Given the description of an element on the screen output the (x, y) to click on. 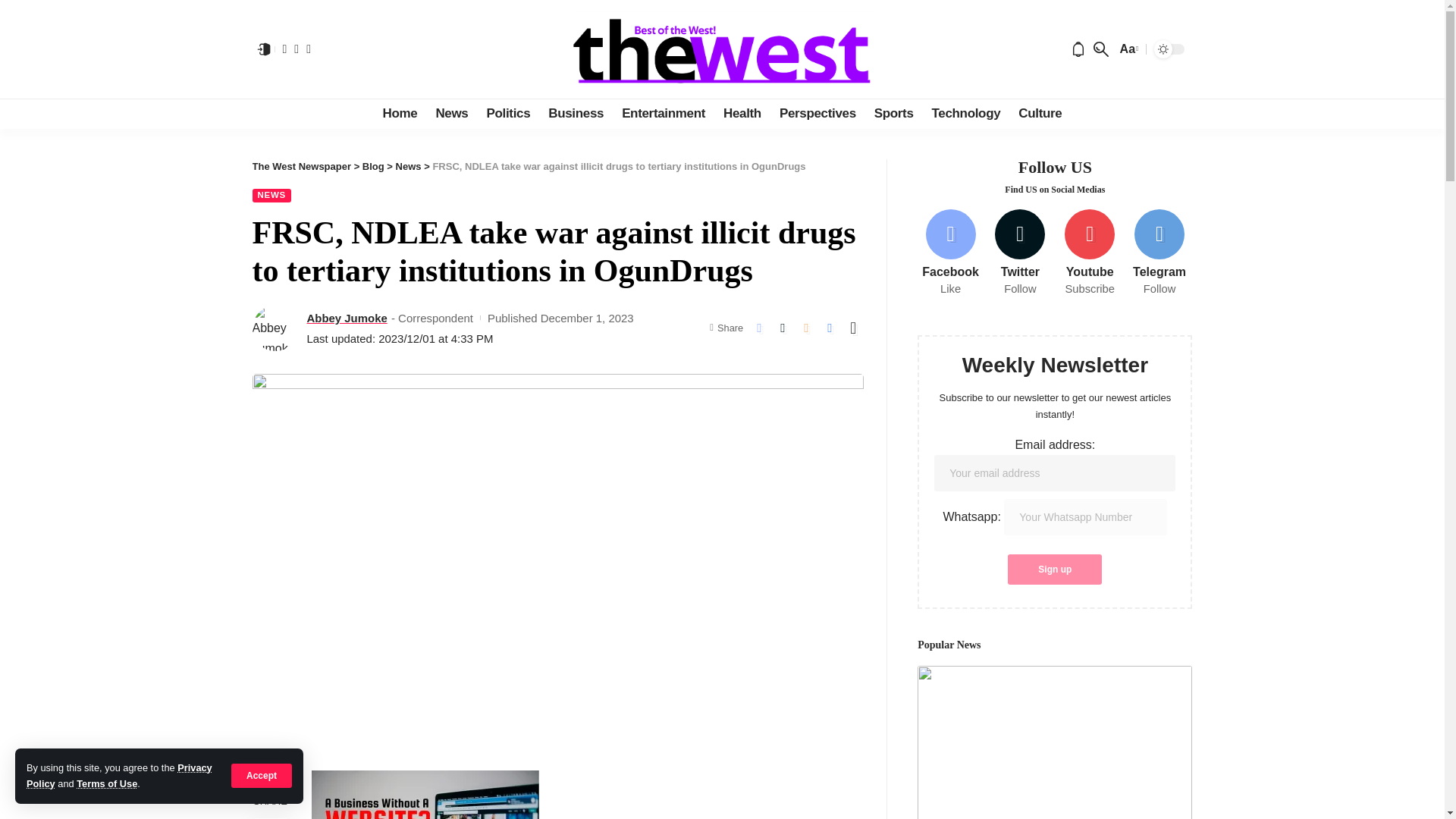
Terms of Use (106, 783)
Culture (1039, 113)
Go to the News Category archives. (409, 165)
Politics (508, 113)
The West Newspaper (721, 48)
Sign up (1054, 569)
News (451, 113)
Business (575, 113)
Sports (893, 113)
